Given the description of an element on the screen output the (x, y) to click on. 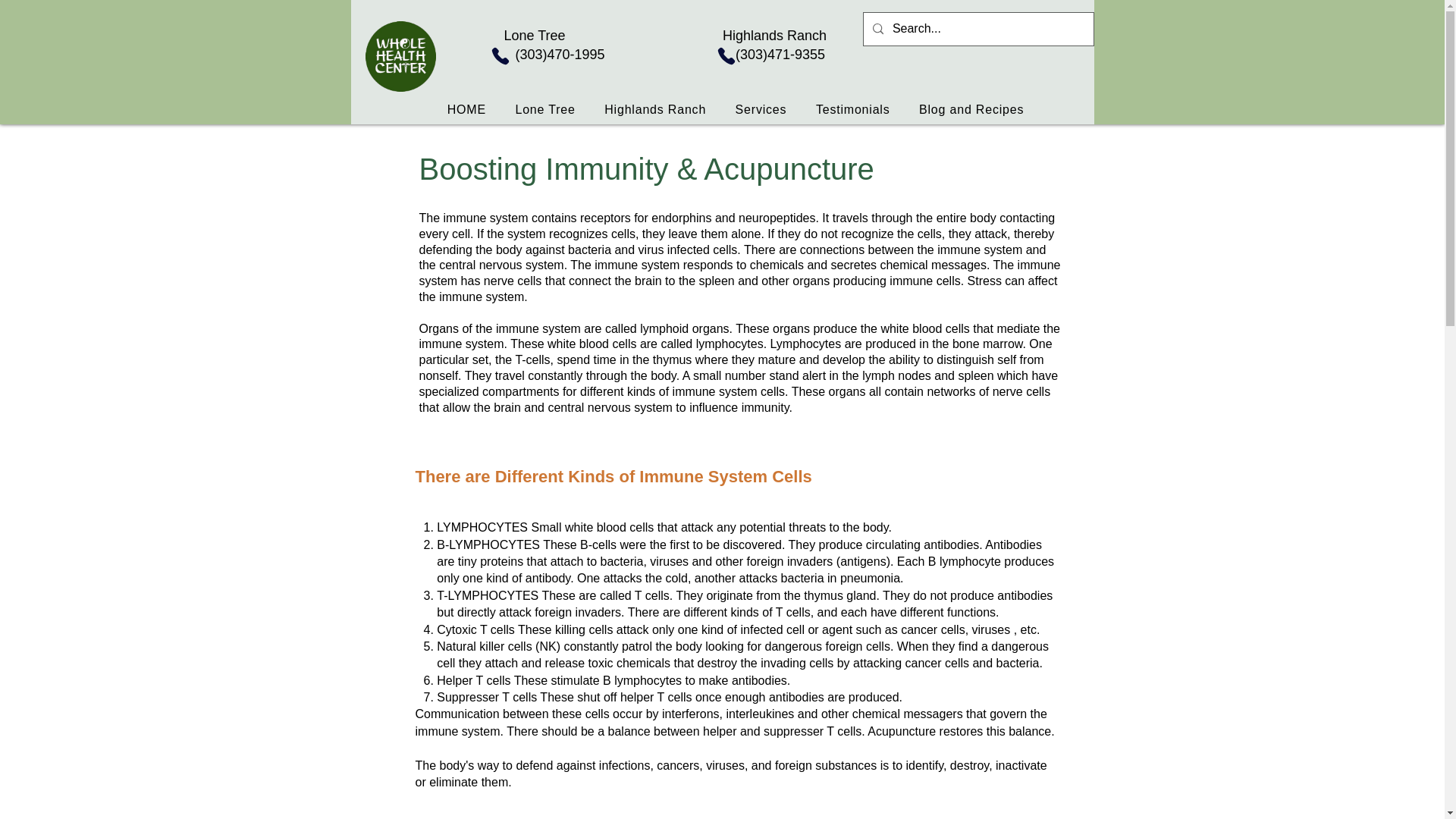
HOME (466, 109)
Highlands Ranch (654, 109)
Testimonials (853, 109)
Lone Tree (544, 109)
Services (760, 109)
Blog and Recipes (971, 109)
